Given the description of an element on the screen output the (x, y) to click on. 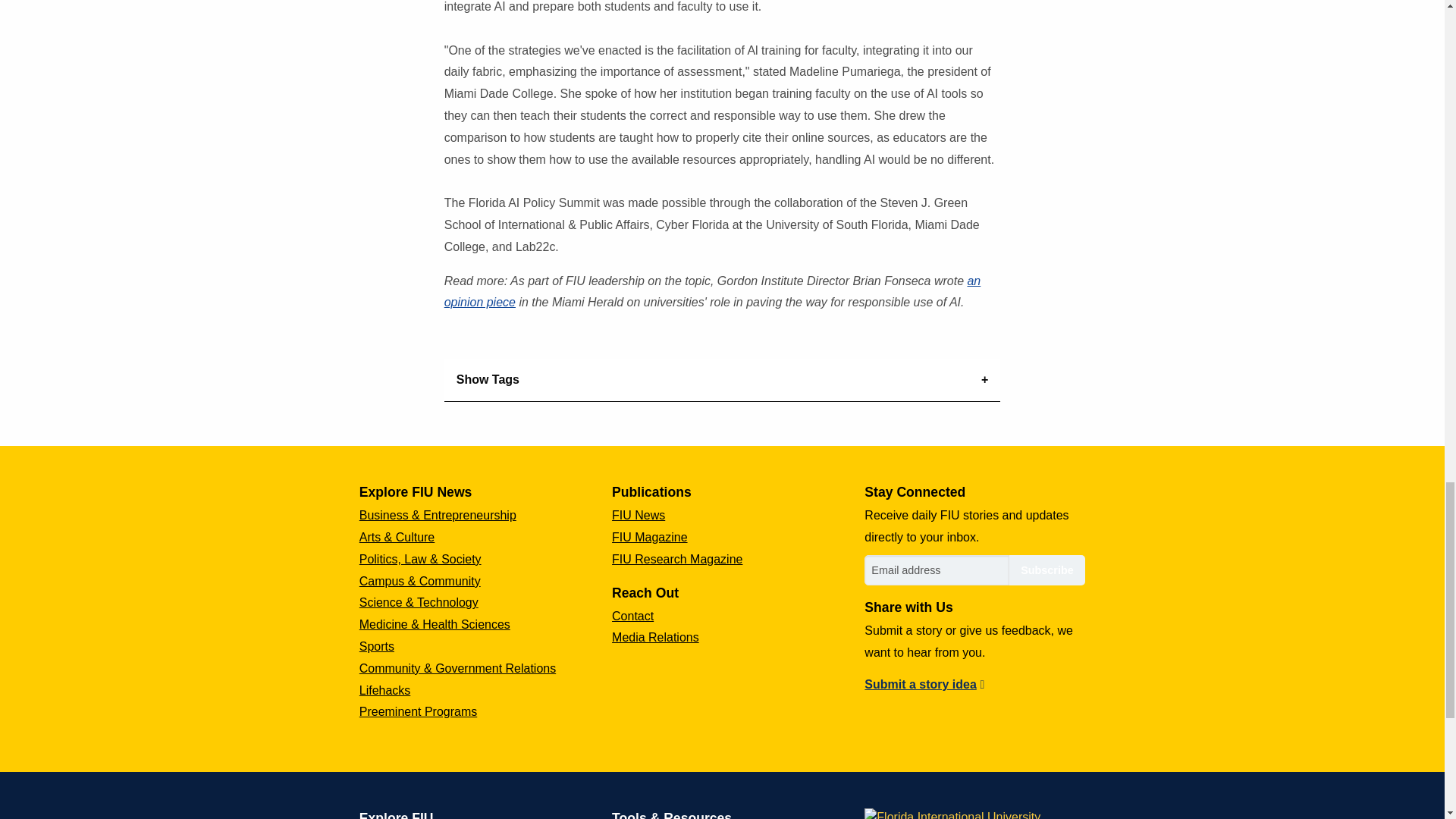
Preeminent Programs (418, 711)
Subscribe (1046, 570)
Sports (376, 645)
FIU News (638, 514)
an opinion piece (712, 291)
Show Tags (722, 380)
Lifehacks (384, 689)
